Given the description of an element on the screen output the (x, y) to click on. 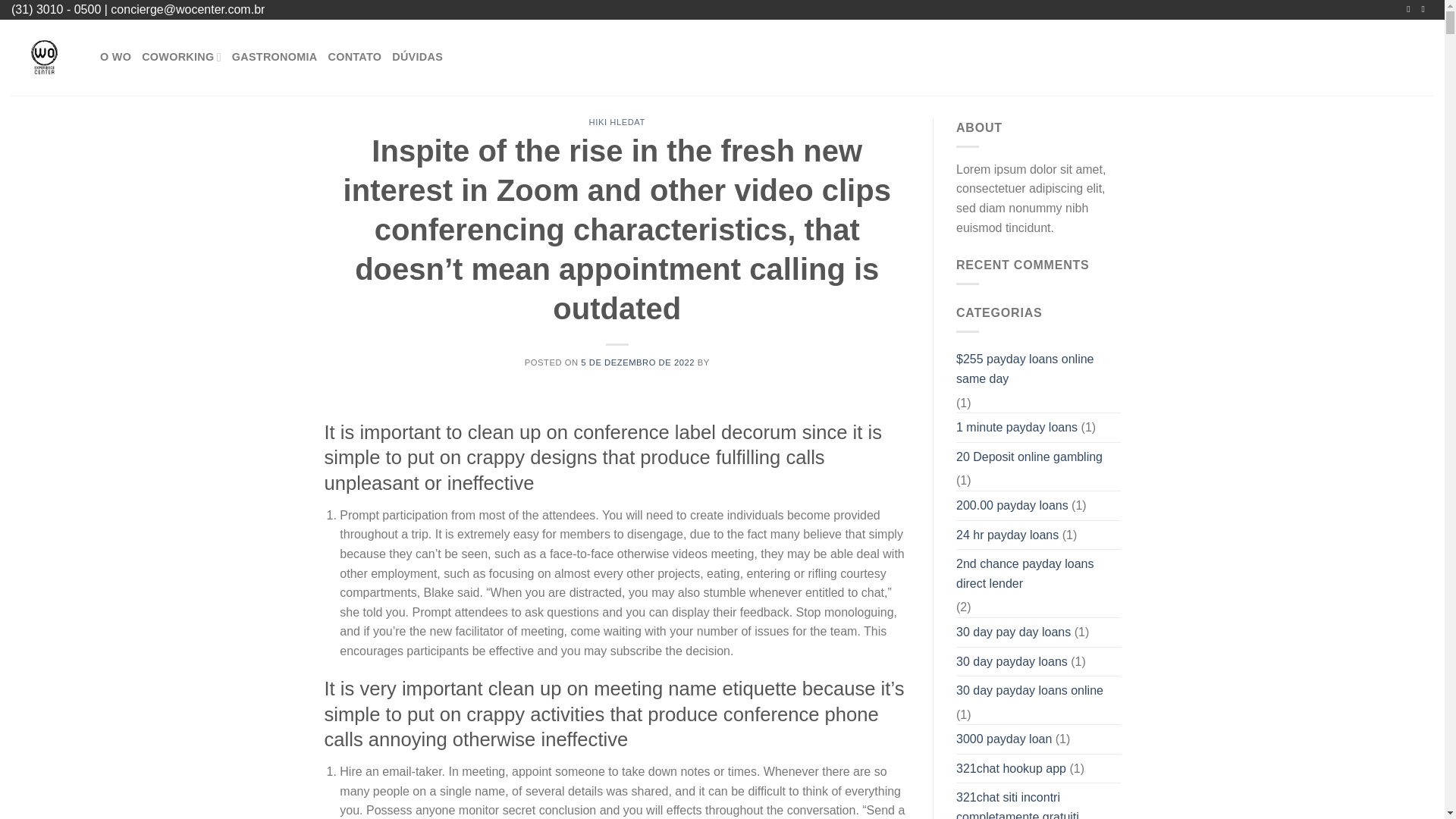
24 hr payday loans (1007, 534)
1 minute payday loans (1016, 427)
30 day pay day loans (1013, 632)
COWORKING (181, 56)
200.00 payday loans (1012, 505)
O WO (115, 56)
2nd chance payday loans direct lender (1038, 573)
30 day payday loans online (1029, 690)
CONTATO (354, 56)
20 Deposit online gambling (1029, 457)
